Given the description of an element on the screen output the (x, y) to click on. 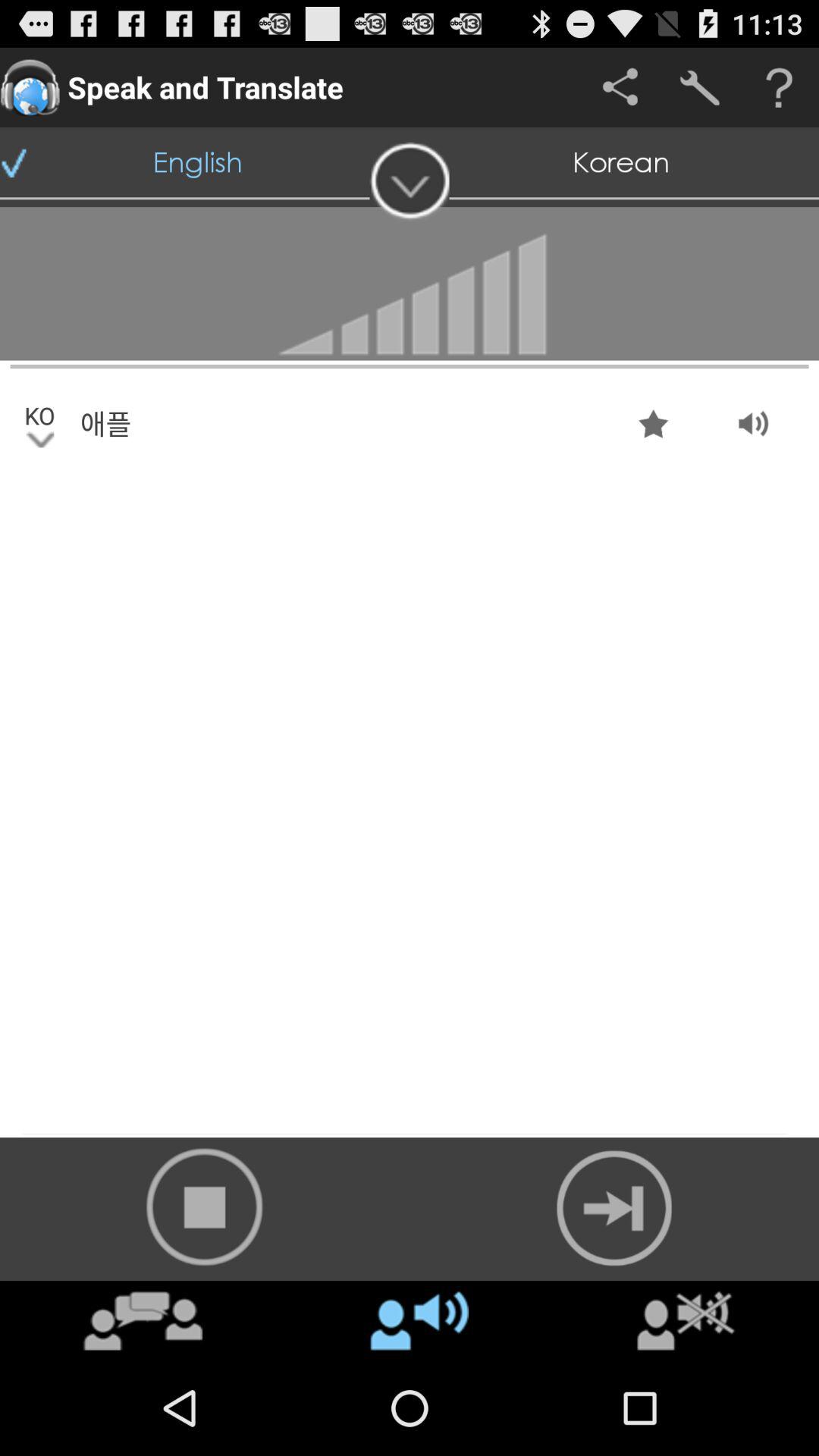
toggle help option (779, 87)
